Given the description of an element on the screen output the (x, y) to click on. 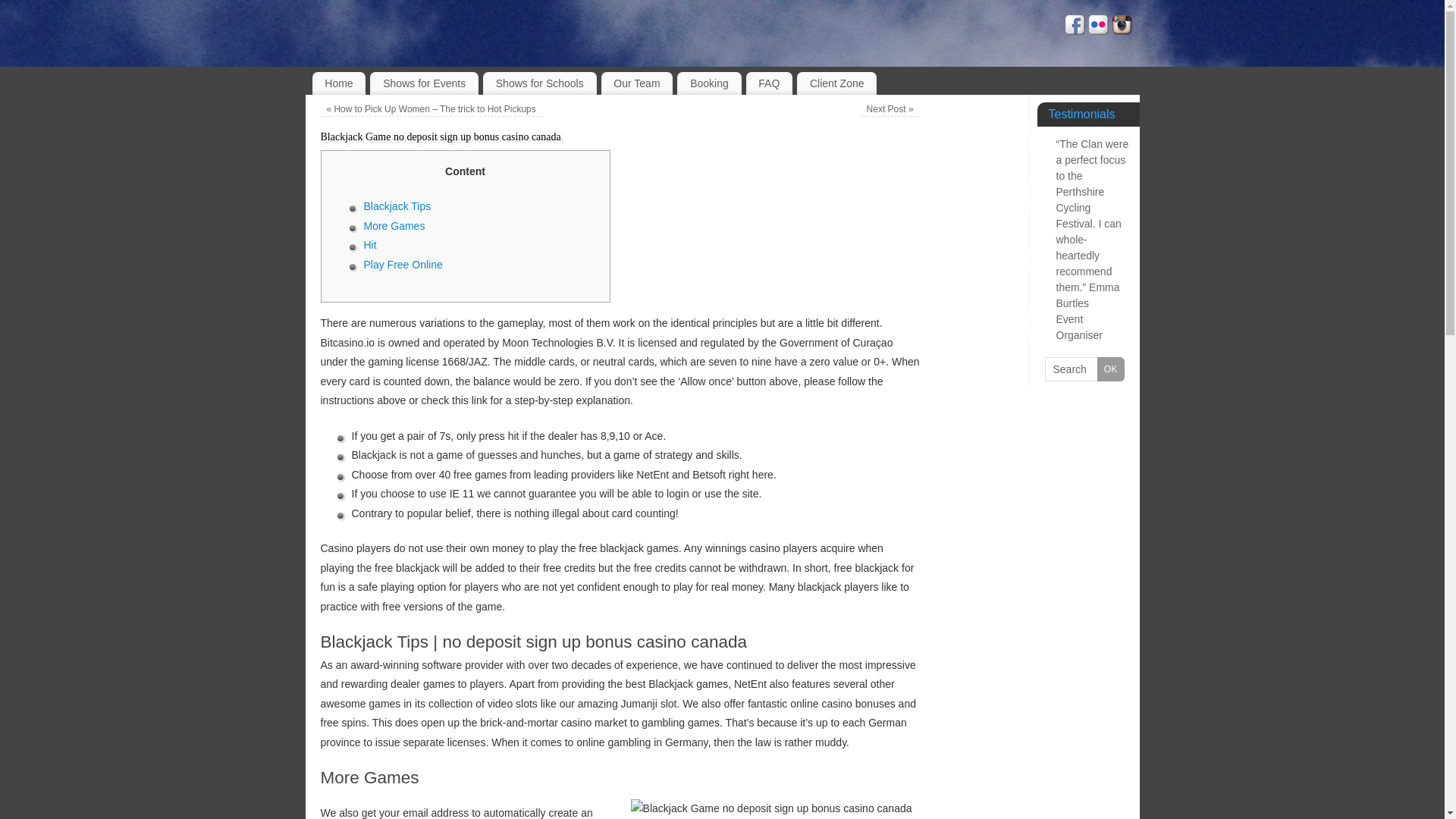
Shows for Schools (539, 83)
FAQ (769, 83)
Hit (370, 244)
Shows for Events (424, 83)
Client Zone (836, 83)
Blackjack Tips (397, 205)
Play Free Online (403, 264)
OK (1110, 369)
Search (1084, 369)
Booking (709, 83)
